Given the description of an element on the screen output the (x, y) to click on. 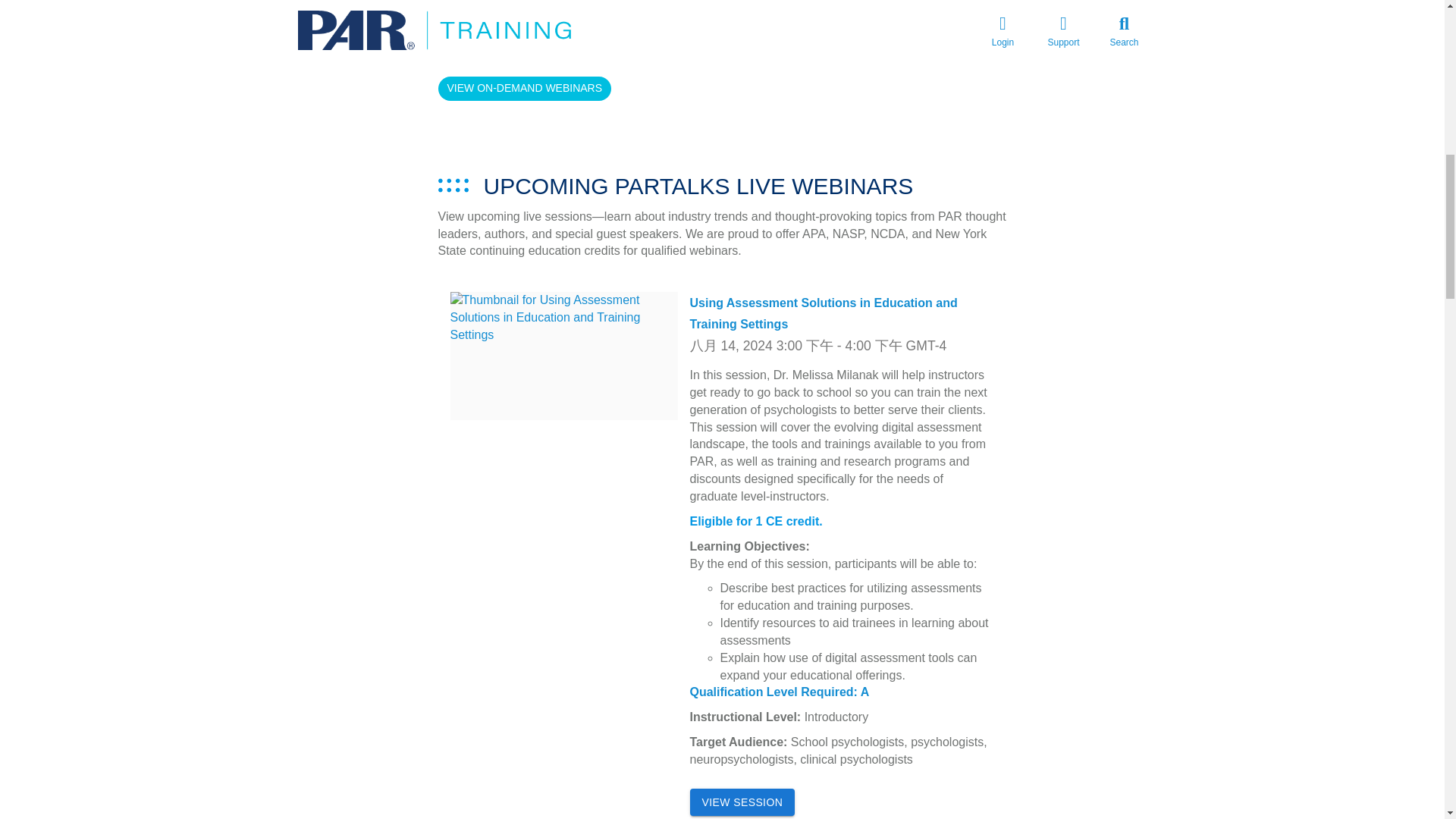
VIEW SESSION (742, 802)
Qualification Level Required: A (779, 691)
VIEW ON-DEMAND WEBINARS (524, 88)
custom image (453, 185)
BROWSE BY SPECIALTY (951, 11)
VIEW PRODUCT TRAINING (736, 8)
